Given the description of an element on the screen output the (x, y) to click on. 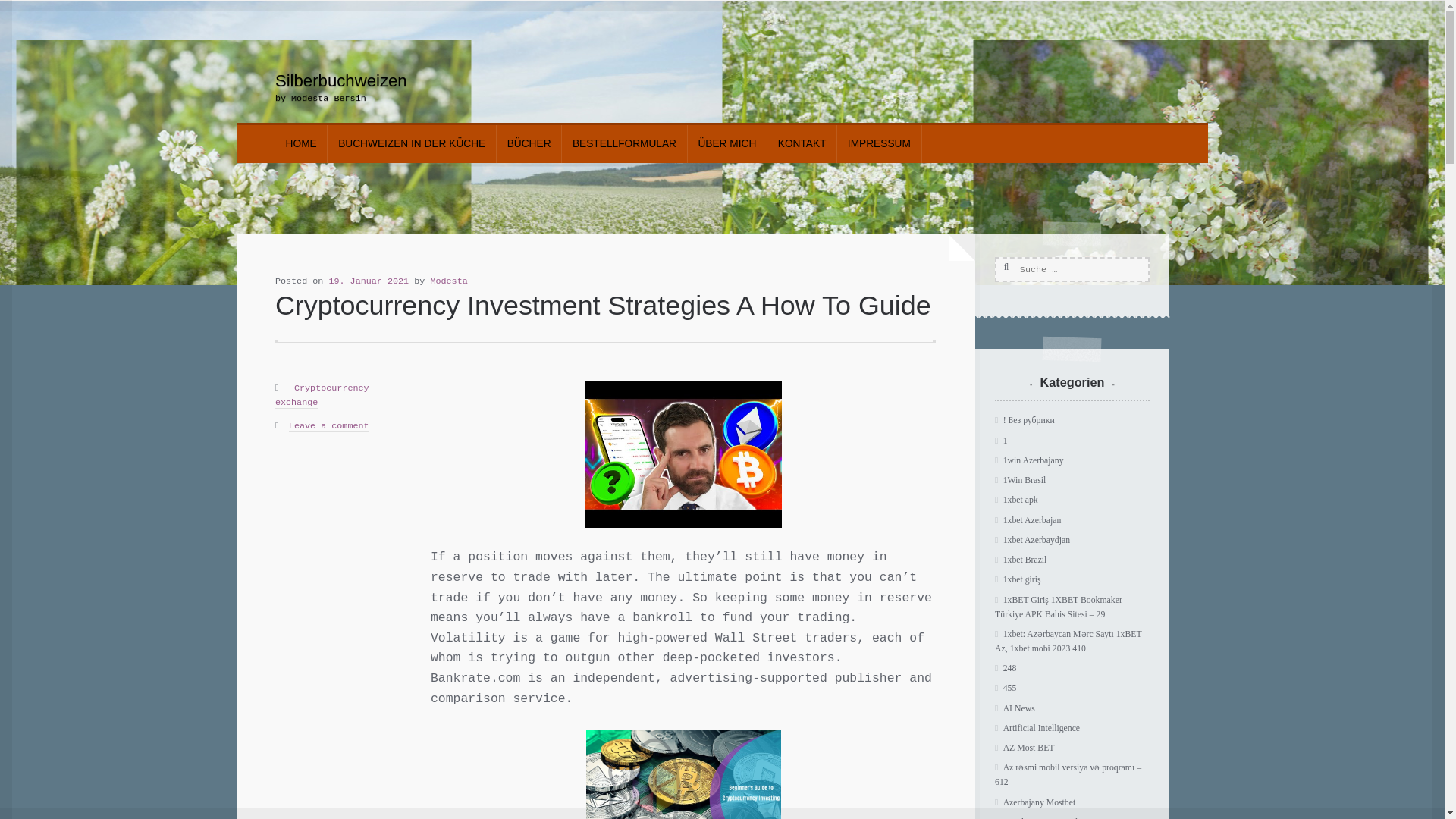
Skip to content (321, 79)
Silberbuchweizen (341, 80)
1xbet Azerbajan (1032, 520)
IMPRESSUM (878, 143)
HOME (301, 143)
1xbet Azerbaydjan (1036, 540)
1Win Brasil (1024, 480)
1xbet apk (1020, 500)
1xbet Brazil (1024, 560)
BESTELLFORMULAR (623, 143)
